Given the description of an element on the screen output the (x, y) to click on. 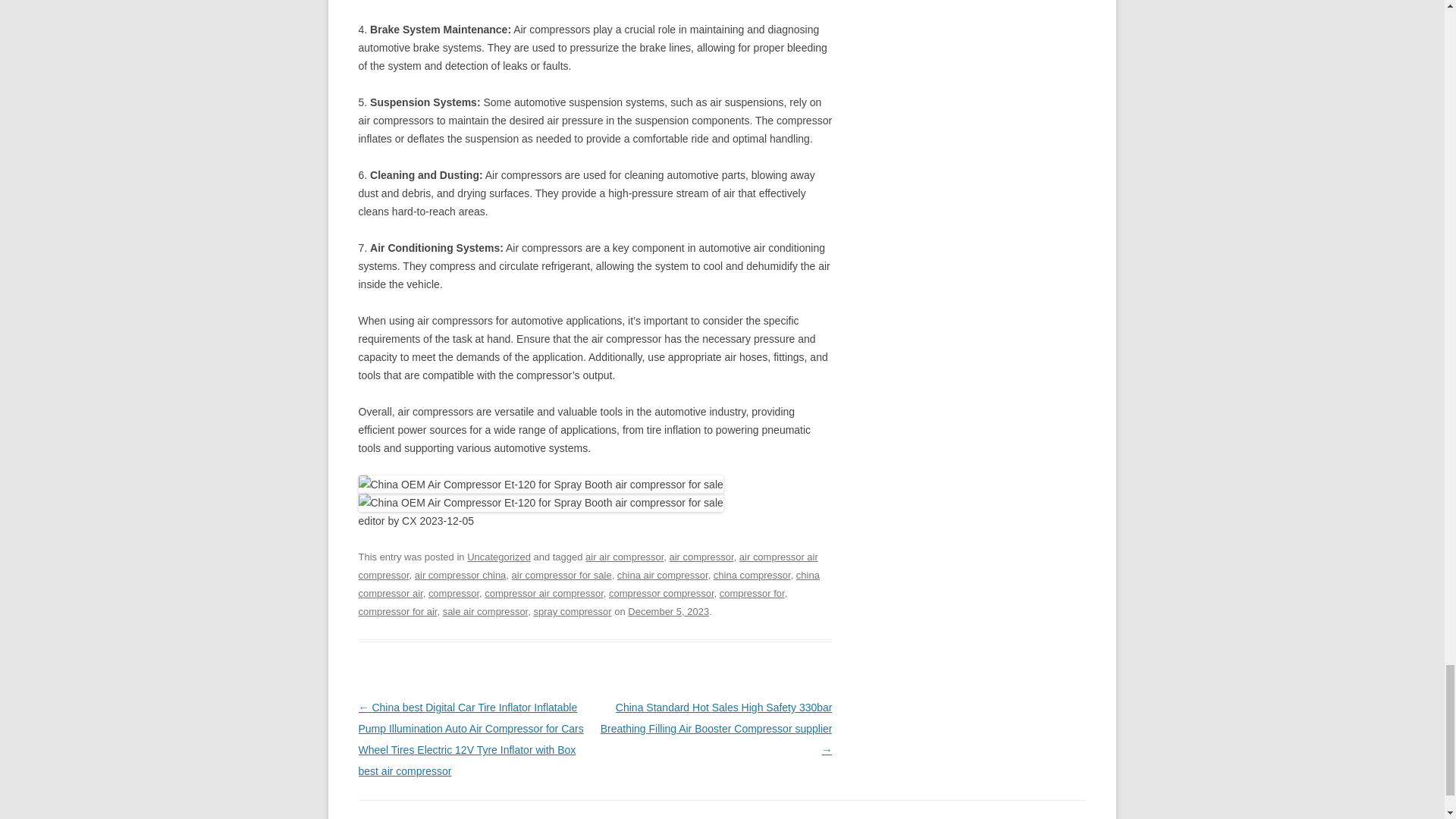
air compressor air compressor (587, 565)
December 5, 2023 (668, 611)
air compressor (700, 556)
compressor for air (397, 611)
compressor for (751, 593)
air air compressor (624, 556)
compressor compressor (661, 593)
2:13 am (668, 611)
china air compressor (662, 574)
air compressor for sale (561, 574)
